Given the description of an element on the screen output the (x, y) to click on. 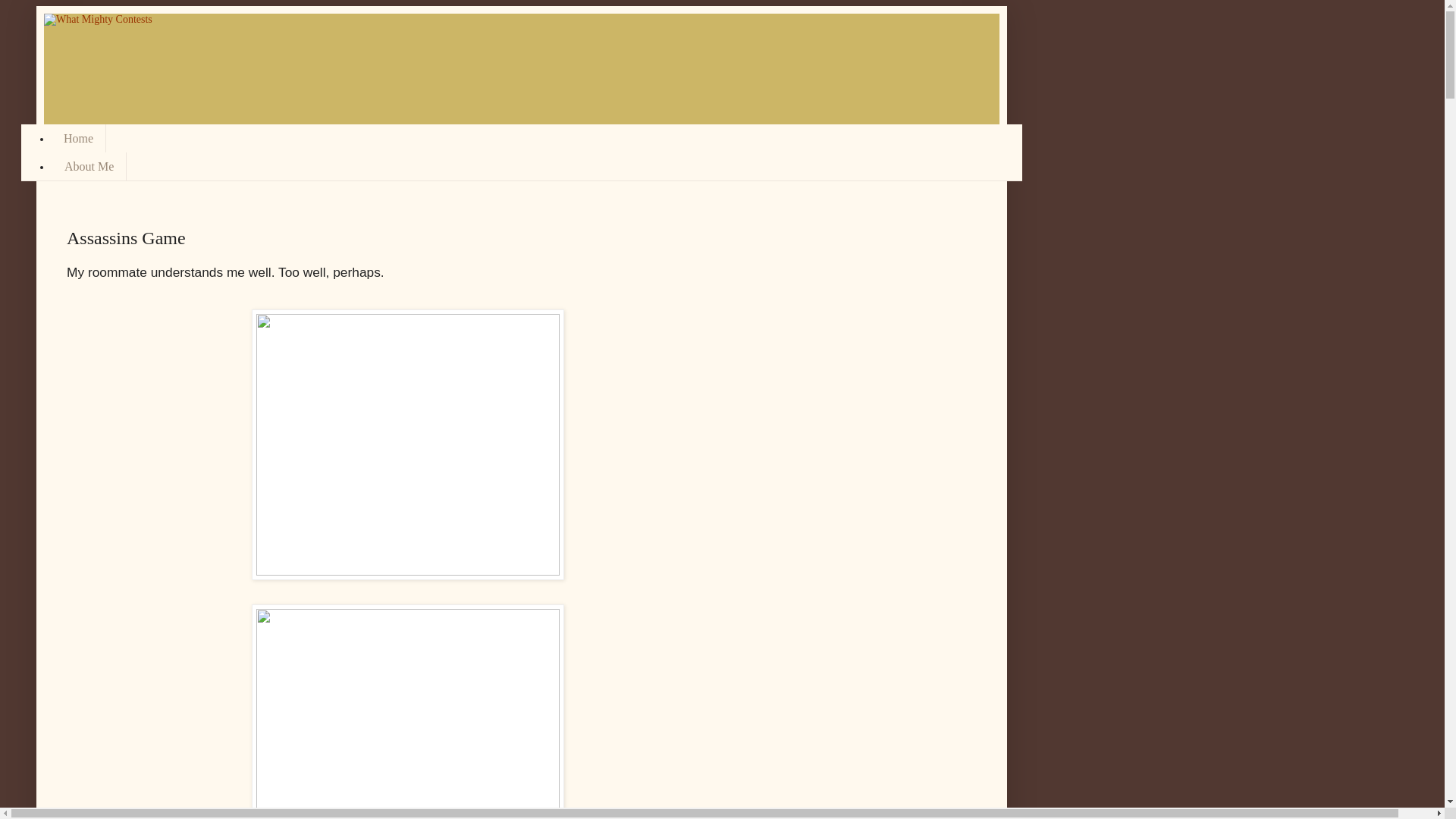
Home (78, 138)
About Me (88, 166)
